Given the description of an element on the screen output the (x, y) to click on. 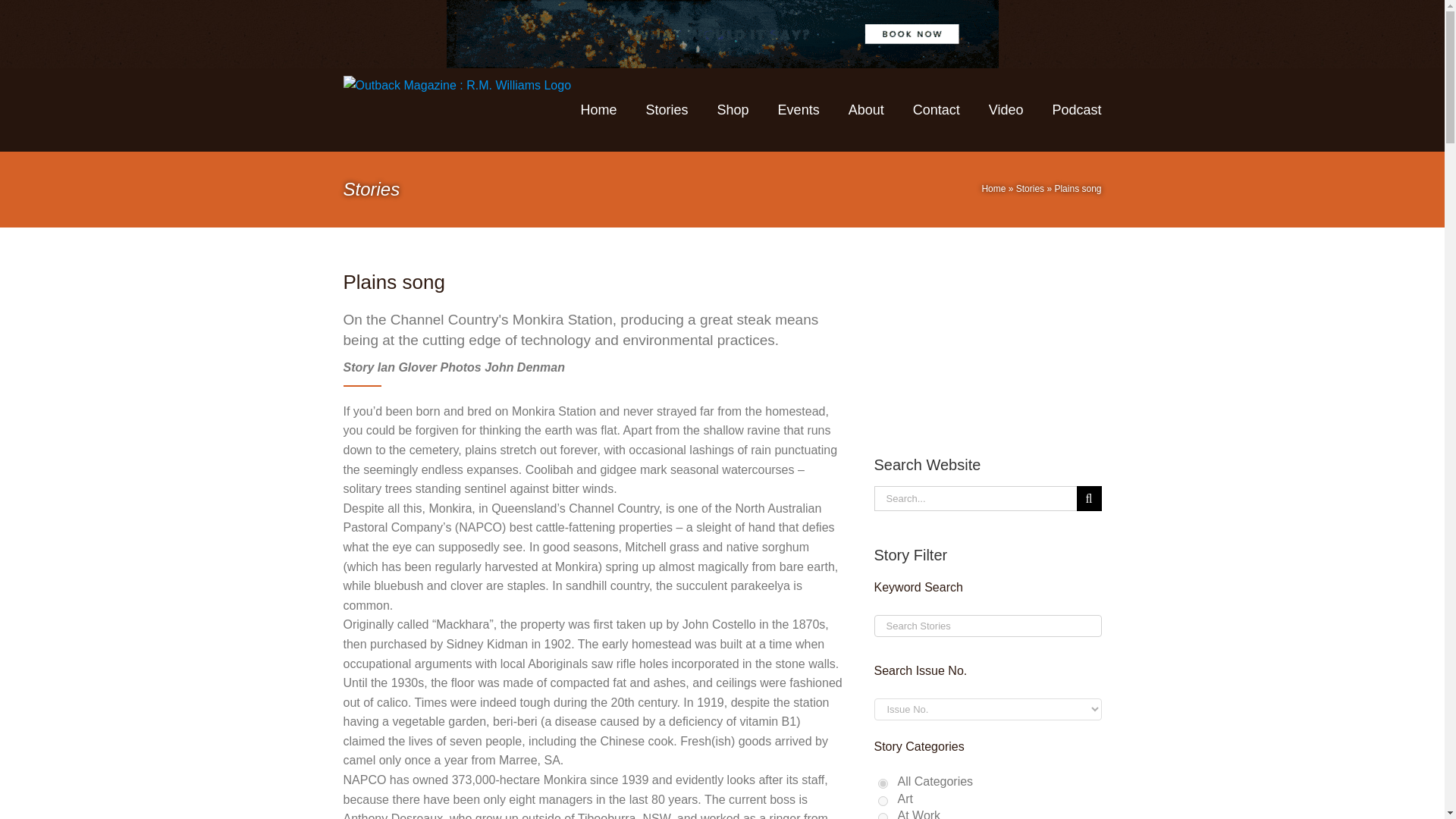
at-work (882, 816)
Stories (1029, 188)
Home (993, 188)
art (882, 800)
